Given the description of an element on the screen output the (x, y) to click on. 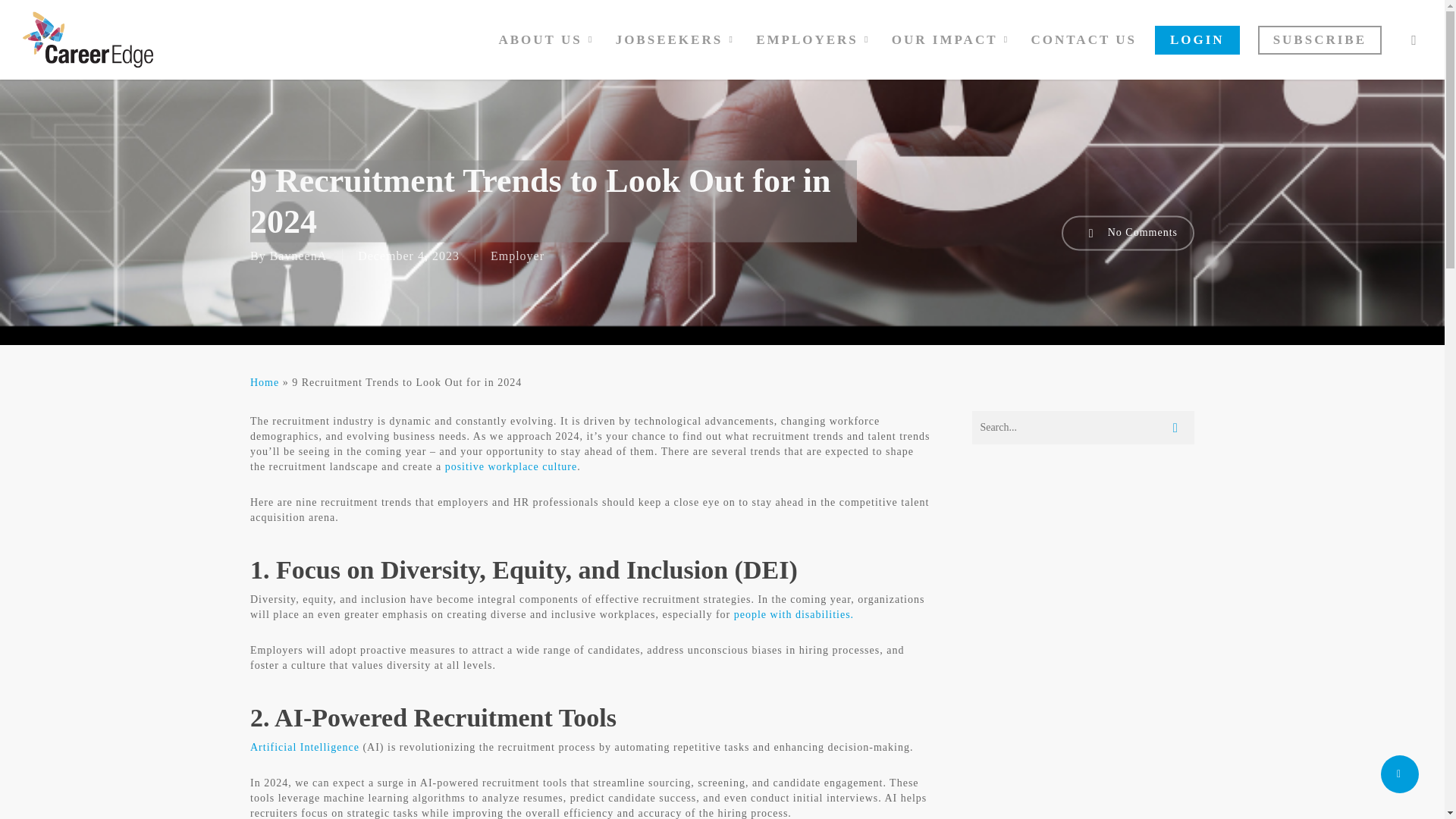
ABOUT US (547, 38)
Home (264, 382)
Employer (517, 254)
people with disabilities. (793, 614)
OUR IMPACT (952, 38)
CONTACT US (1083, 38)
search (1414, 38)
Search for: (1082, 427)
SUBSCRIBE (1319, 38)
Posts by BavneenA (298, 254)
EMPLOYERS (814, 38)
No Comments (1127, 232)
Artificial Intelligence (304, 747)
BavneenA (298, 254)
LOGIN (1197, 38)
